Given the description of an element on the screen output the (x, y) to click on. 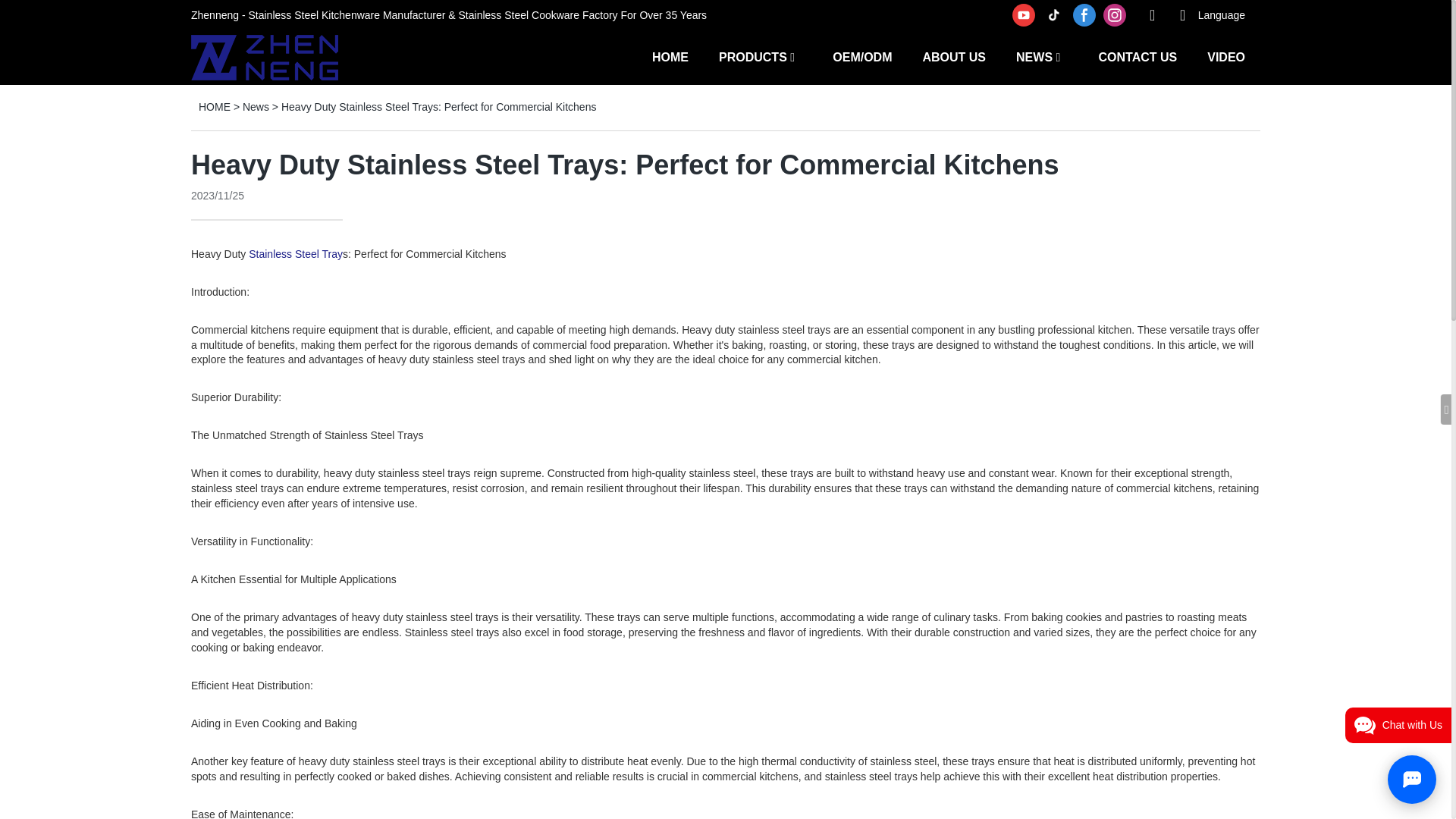
CONTACT US (1136, 56)
PRODUCTS (753, 56)
Stainless Steel Tray (295, 254)
VIDEO (1225, 56)
tiktok (1053, 15)
NEWS (1034, 56)
instagram (1114, 15)
ABOUT US (953, 56)
HOME (670, 56)
youtube (1024, 15)
facebook (1083, 15)
